Given the description of an element on the screen output the (x, y) to click on. 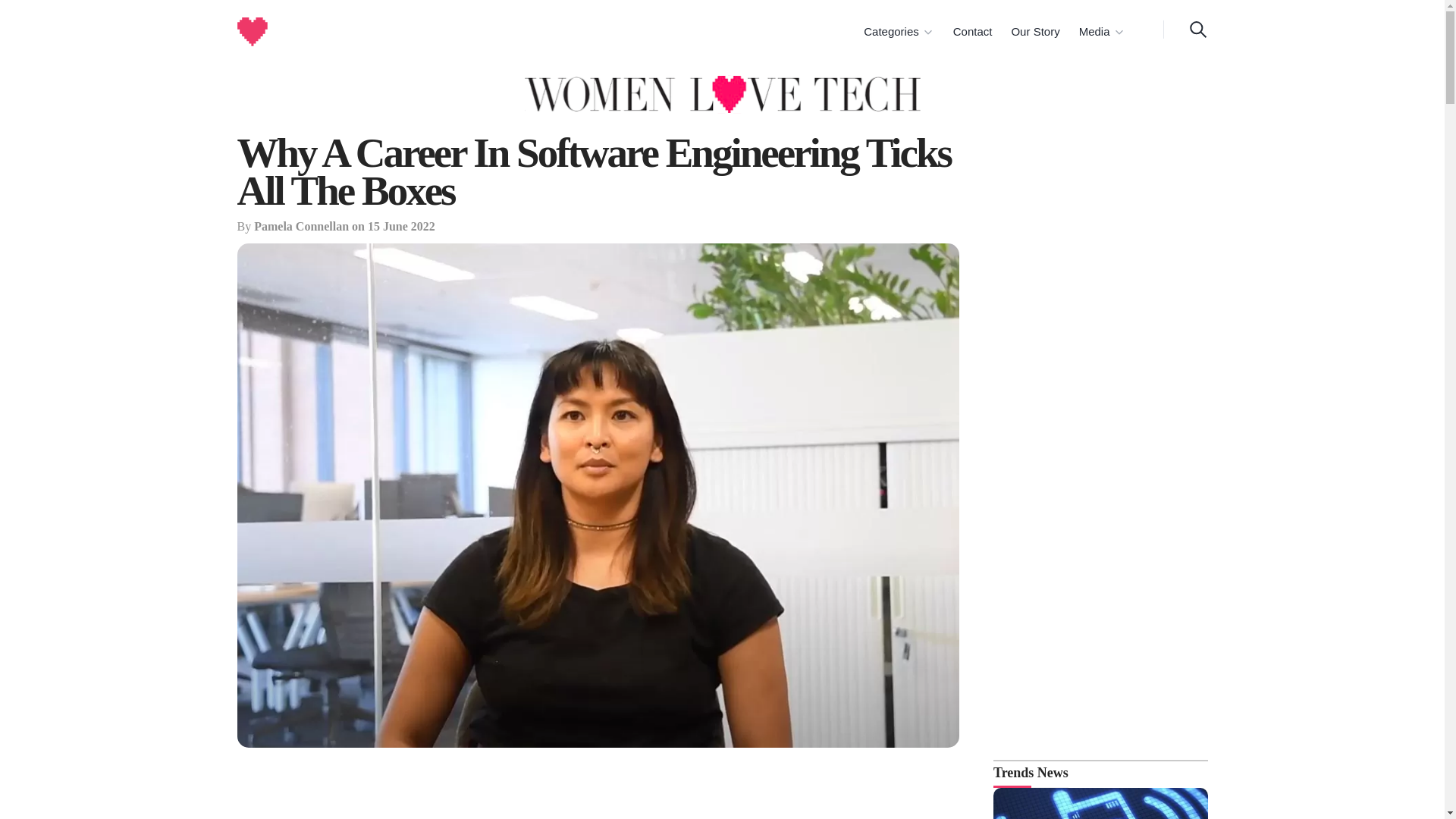
Media (1101, 31)
Contact (970, 31)
Advertisement (597, 792)
Categories (897, 31)
Pamela Connellan (301, 226)
Our Story (1033, 31)
